Given the description of an element on the screen output the (x, y) to click on. 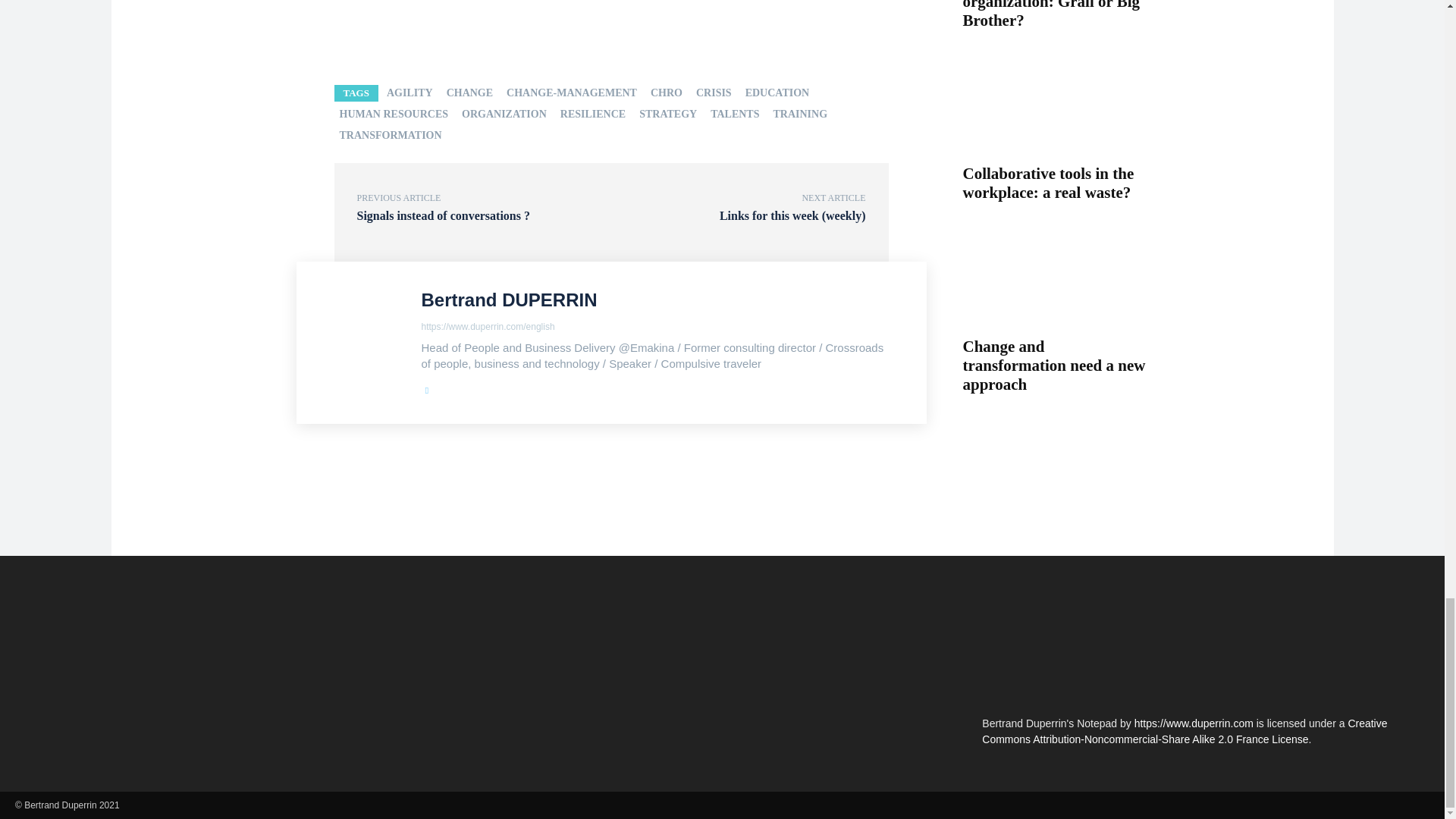
Twitter (427, 387)
Collaborative tools in the workplace: a real waste? (1048, 182)
Collaborative tools in the workplace: a real waste? (1055, 108)
Change and transformation need a new approach (1055, 280)
The quantified organization: Grail or Big Brother? (1051, 14)
